Given the description of an element on the screen output the (x, y) to click on. 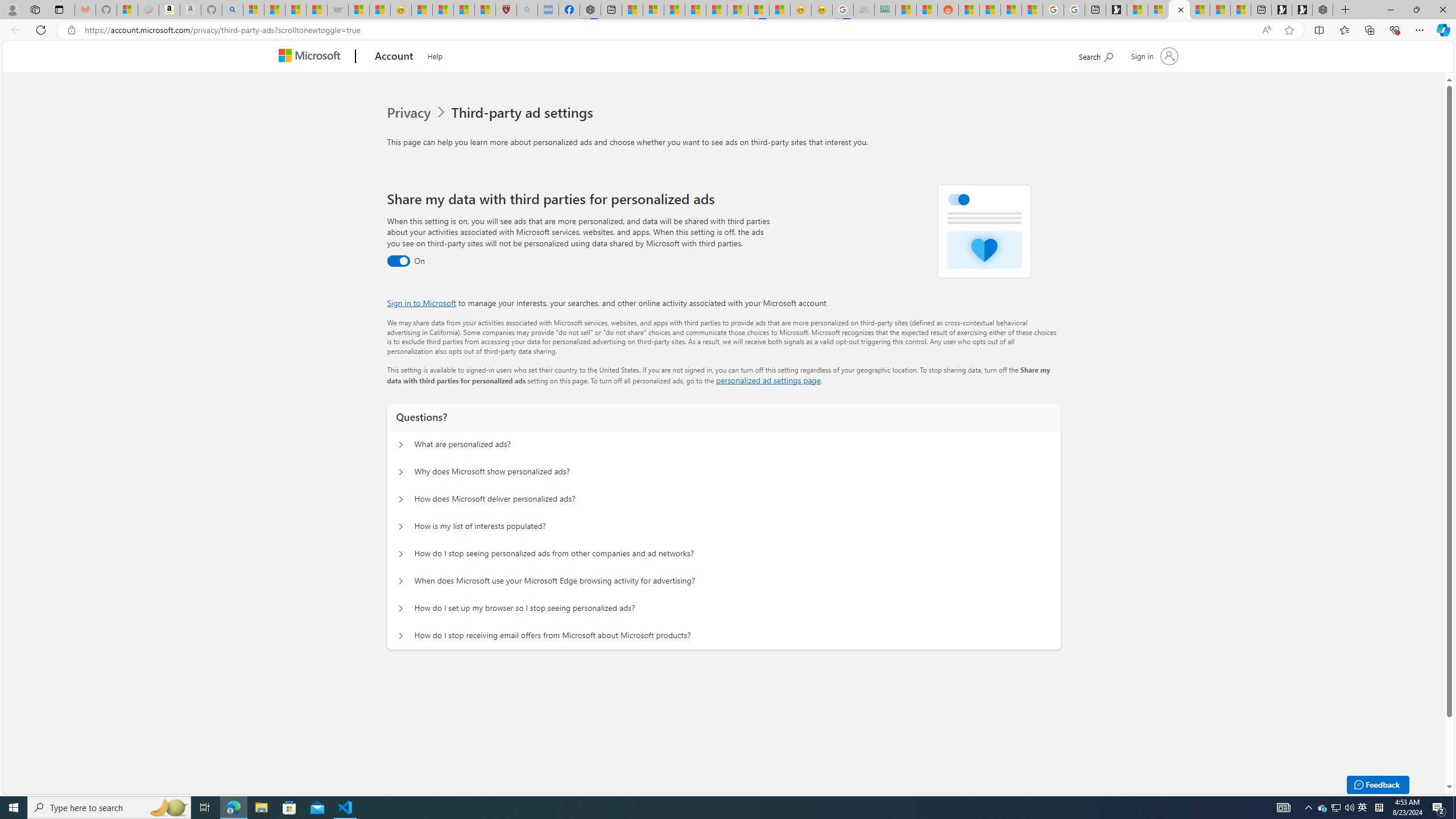
Questions? How is my list of interests populated? (401, 526)
